Given the description of an element on the screen output the (x, y) to click on. 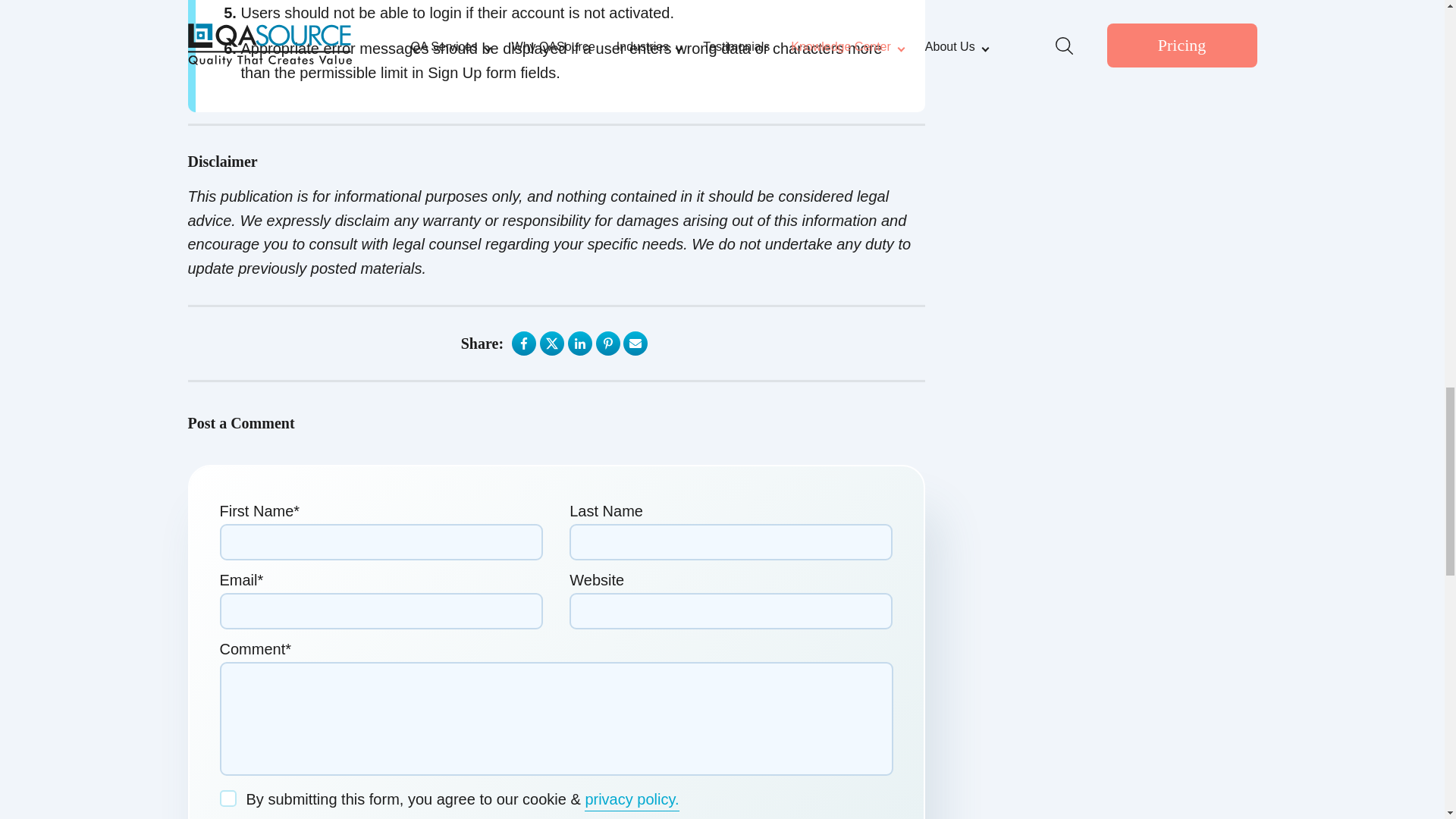
Pinterest (608, 343)
LinkedIn (579, 343)
Twitter (551, 343)
Email (635, 343)
Facebook (523, 343)
